Given the description of an element on the screen output the (x, y) to click on. 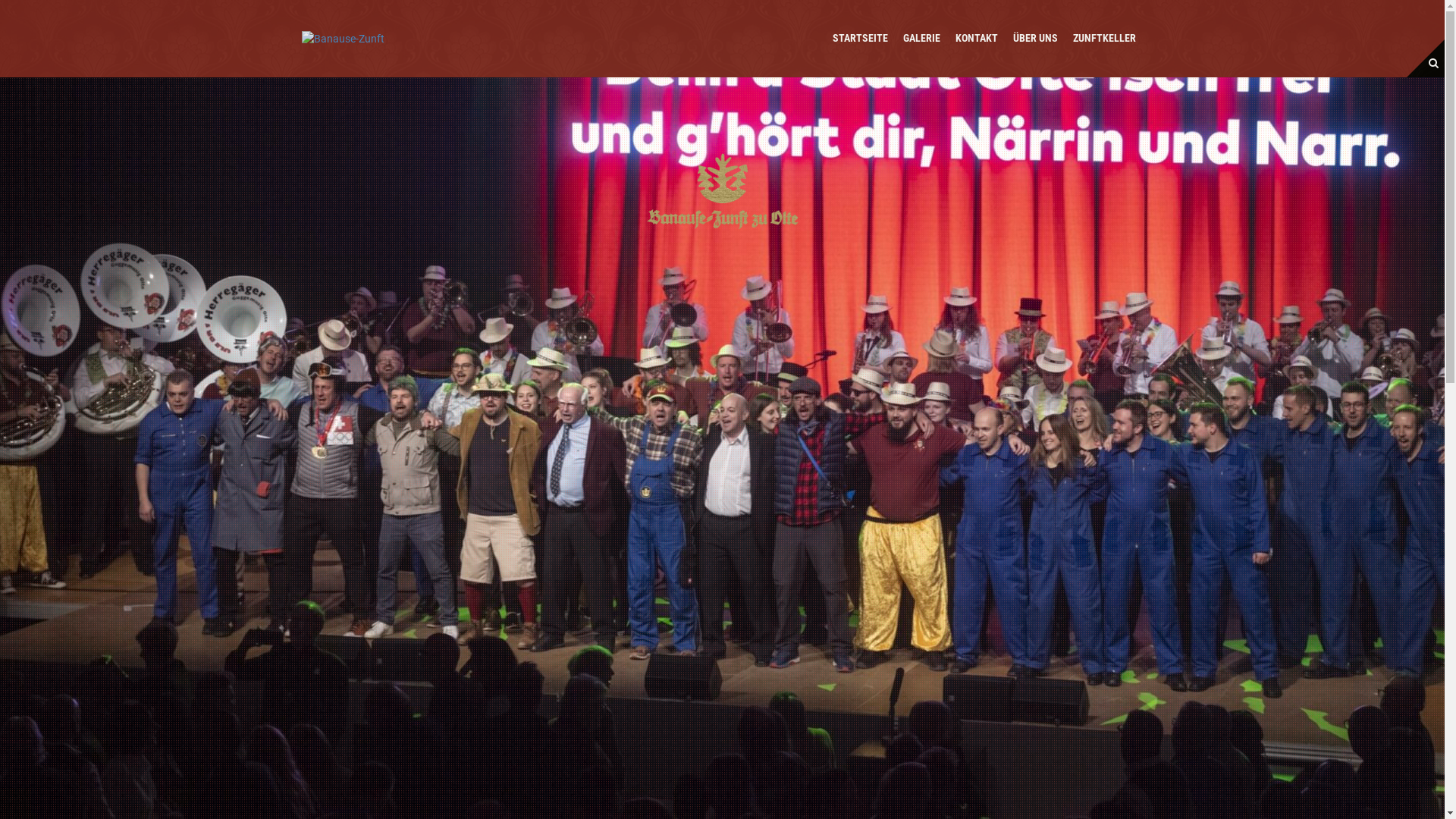
KONTAKT Element type: text (976, 38)
GALERIE Element type: text (920, 38)
STARTSEITE Element type: text (860, 38)
Banause-Zunft Element type: hover (342, 37)
ZUNFTKELLER Element type: text (1103, 38)
